Given the description of an element on the screen output the (x, y) to click on. 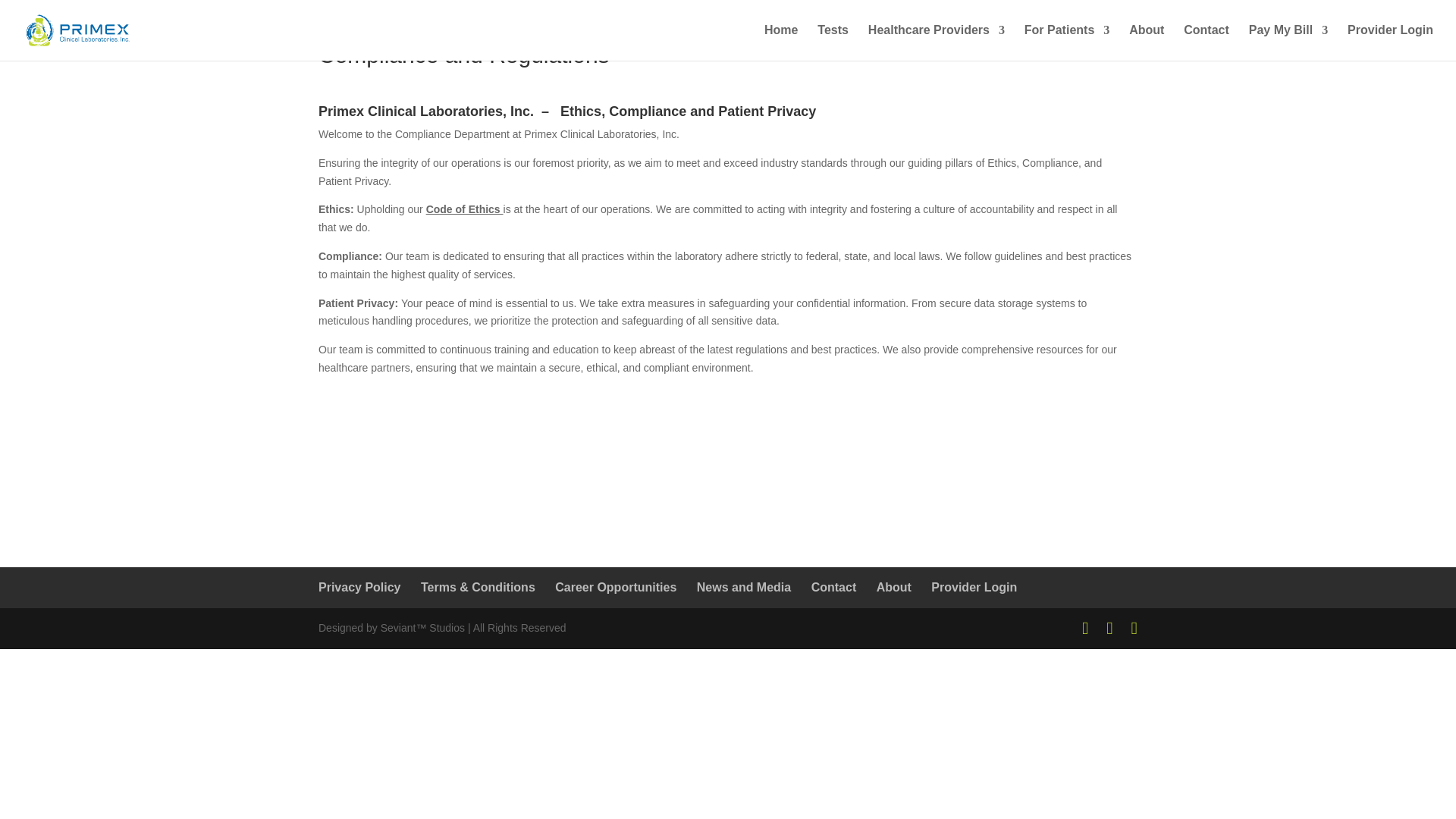
About (1146, 42)
Home (780, 42)
Provider Login (1390, 42)
Healthcare Providers (935, 42)
Pay My Bill (1288, 42)
For Patients (1067, 42)
Contact (1205, 42)
